Given the description of an element on the screen output the (x, y) to click on. 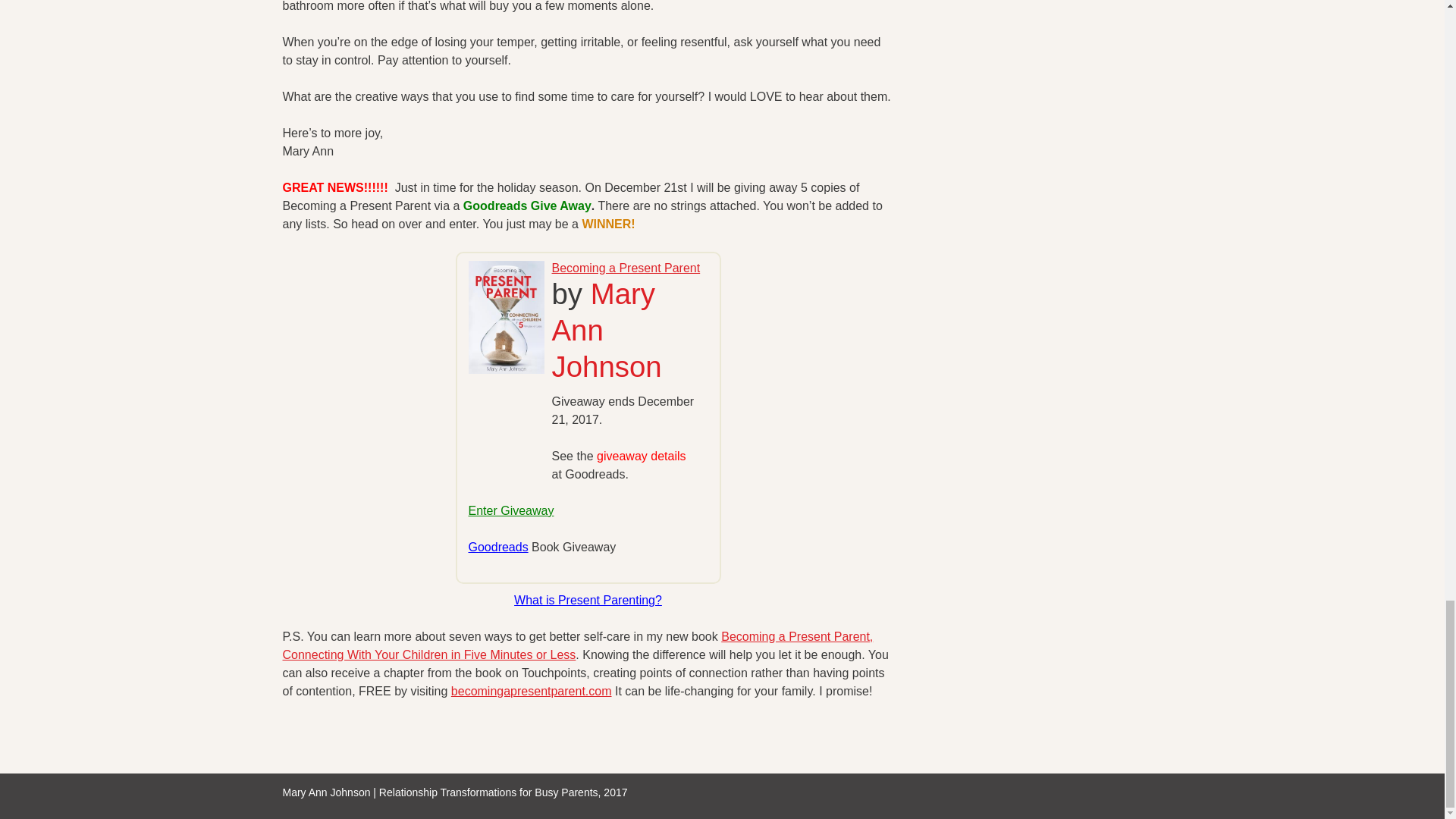
Enter Giveaway (511, 509)
becomingapresentparent.com (531, 689)
What is Present Parenting? (587, 599)
giveaway details (640, 454)
Goodreads (498, 545)
Mary Ann Johnson (606, 330)
Becoming a Present Parent (625, 267)
